Given the description of an element on the screen output the (x, y) to click on. 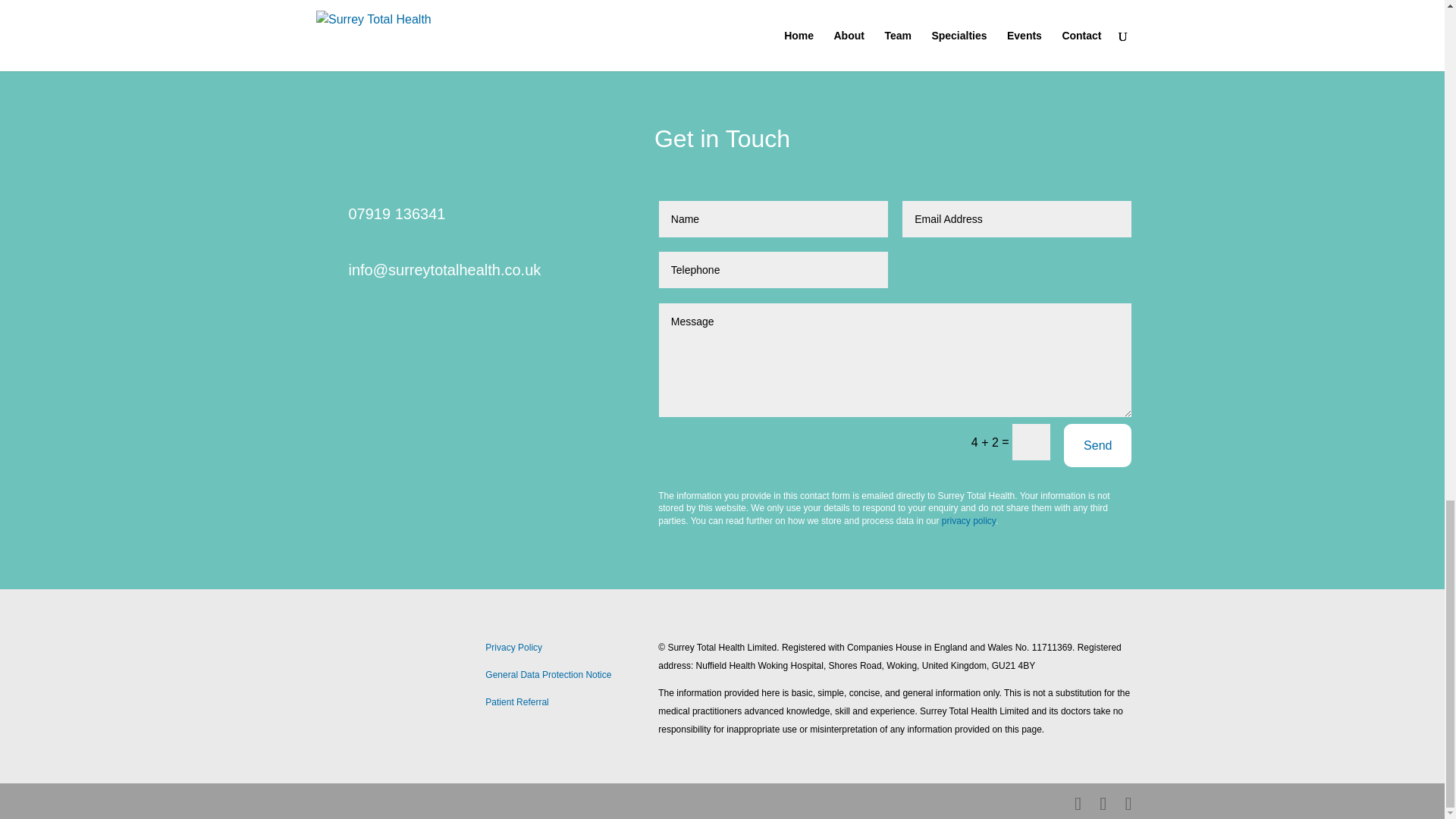
Privacy Policy (512, 647)
View Specialty (1019, 1)
privacy policy (968, 520)
07919 136341 (397, 213)
Patient Referral (516, 701)
Send (1097, 445)
General Data Protection Notice (547, 674)
Only numbers allowed. (773, 269)
Back to Team (800, 1)
